Given the description of an element on the screen output the (x, y) to click on. 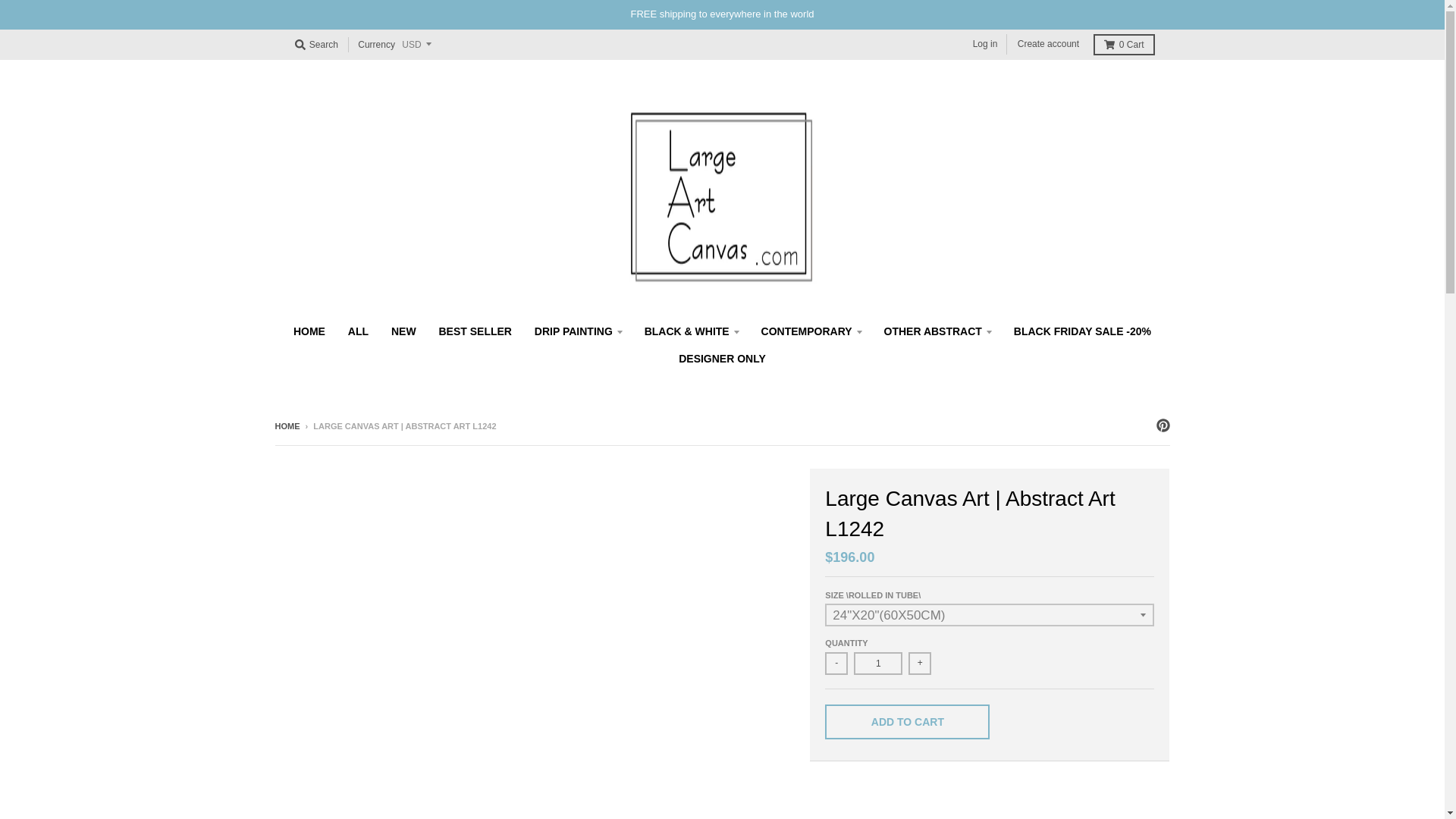
OTHER ABSTRACT (938, 330)
HOME (308, 330)
BEST SELLER (475, 330)
0 Cart (1123, 44)
DRIP PAINTING (577, 330)
Search (315, 44)
Back to the frontpage (287, 425)
ALL (357, 330)
Pinterest - LargeArtCanvas (1162, 425)
Create account (1048, 44)
1 (877, 662)
Log in (985, 44)
CONTEMPORARY (810, 330)
NEW (403, 330)
